Given the description of an element on the screen output the (x, y) to click on. 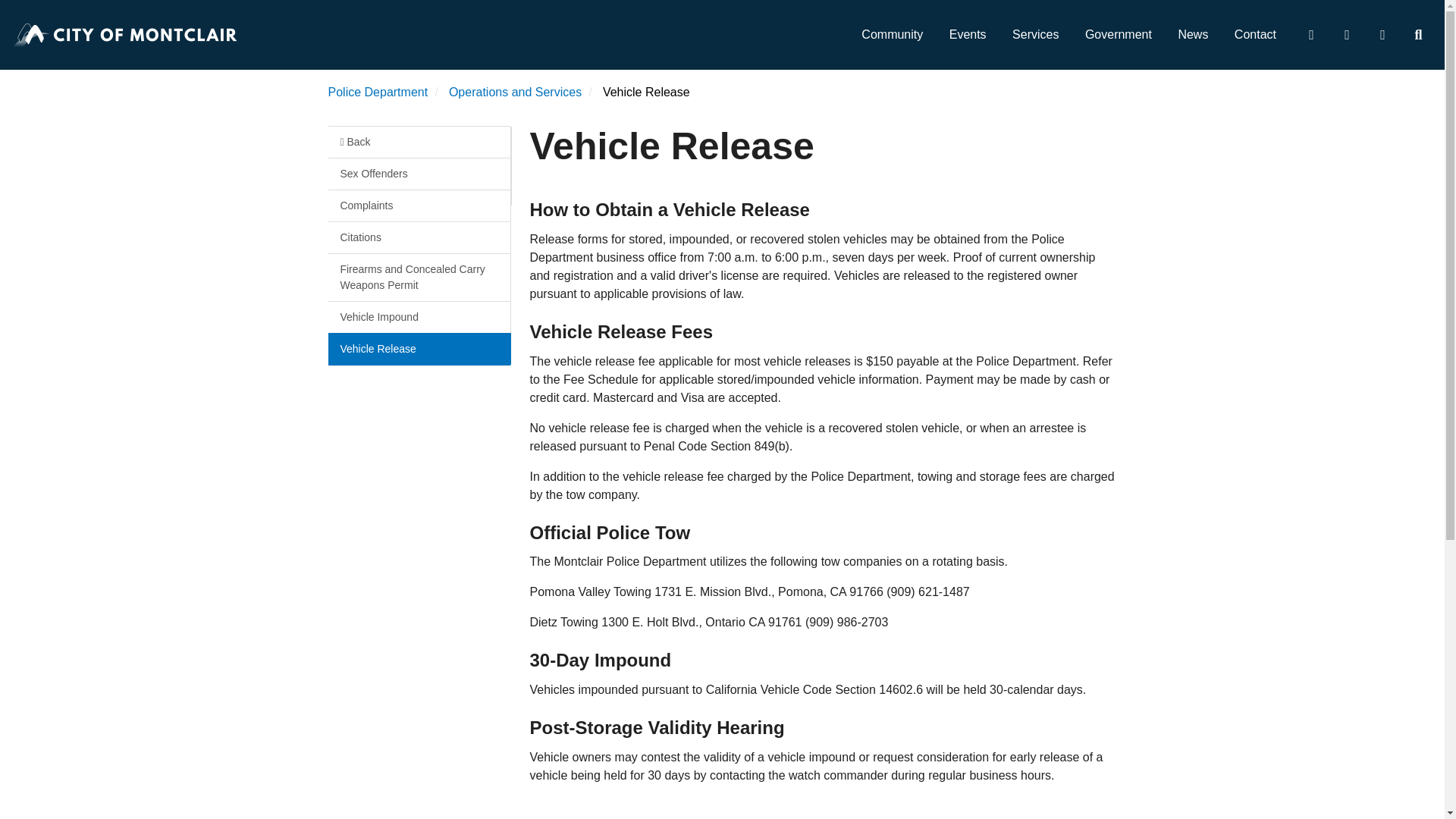
Translate (1381, 35)
News (1193, 34)
Police Department (377, 91)
Home (125, 34)
Operations and Services (514, 91)
Operations and Services (514, 91)
Police Department (377, 91)
Contact (1255, 34)
Events (967, 34)
Search (1417, 35)
